Given the description of an element on the screen output the (x, y) to click on. 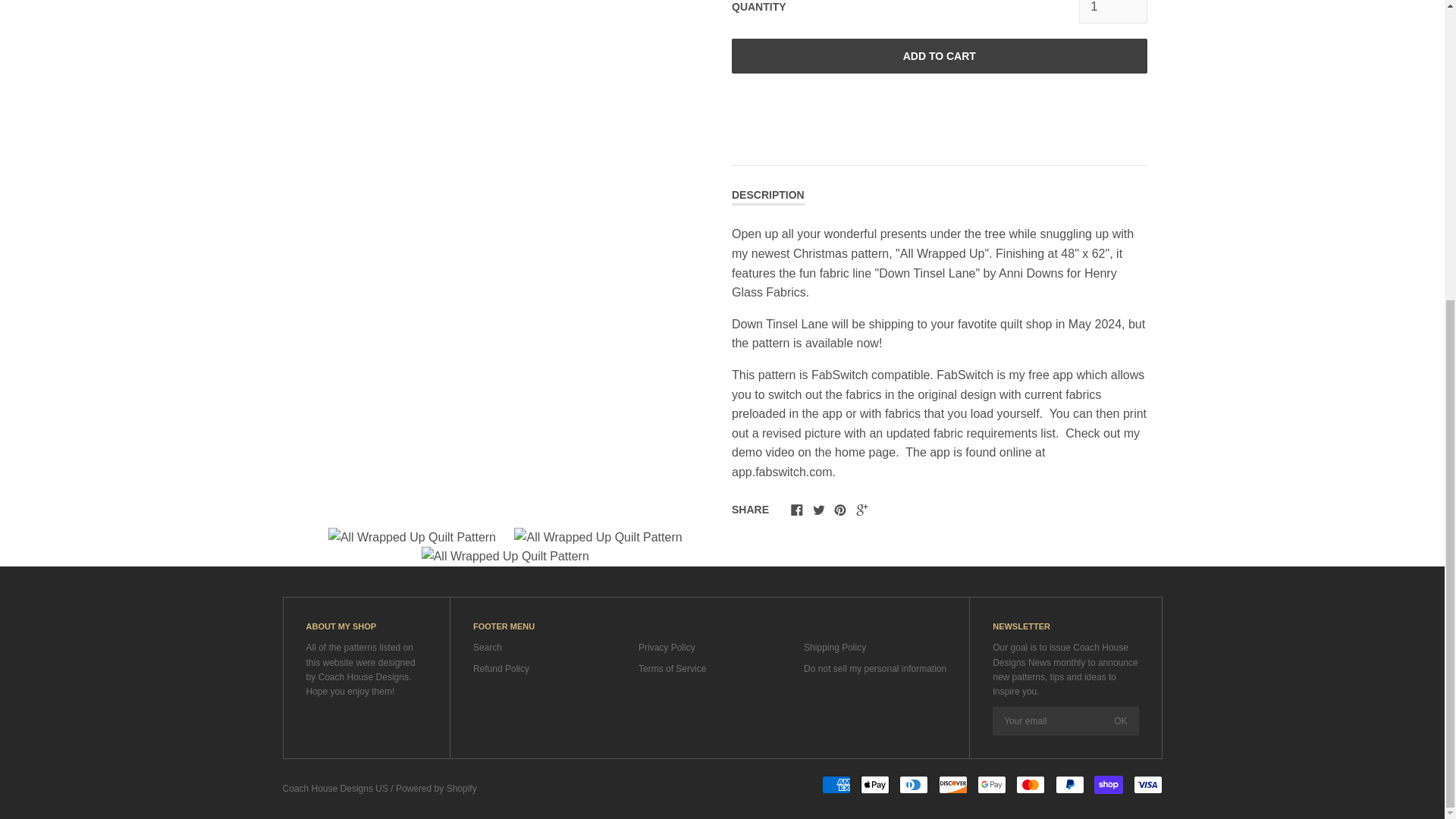
Pinterest (839, 509)
Twitter (818, 509)
Google Pay (991, 784)
American Express (836, 784)
Diners Club (913, 784)
Facebook (796, 509)
Shop Pay (1108, 784)
Apple Pay (874, 784)
OK (1120, 720)
Discover (953, 784)
PayPal (1069, 784)
Visa (1146, 784)
1 (1112, 11)
Mastercard (1030, 784)
